Given the description of an element on the screen output the (x, y) to click on. 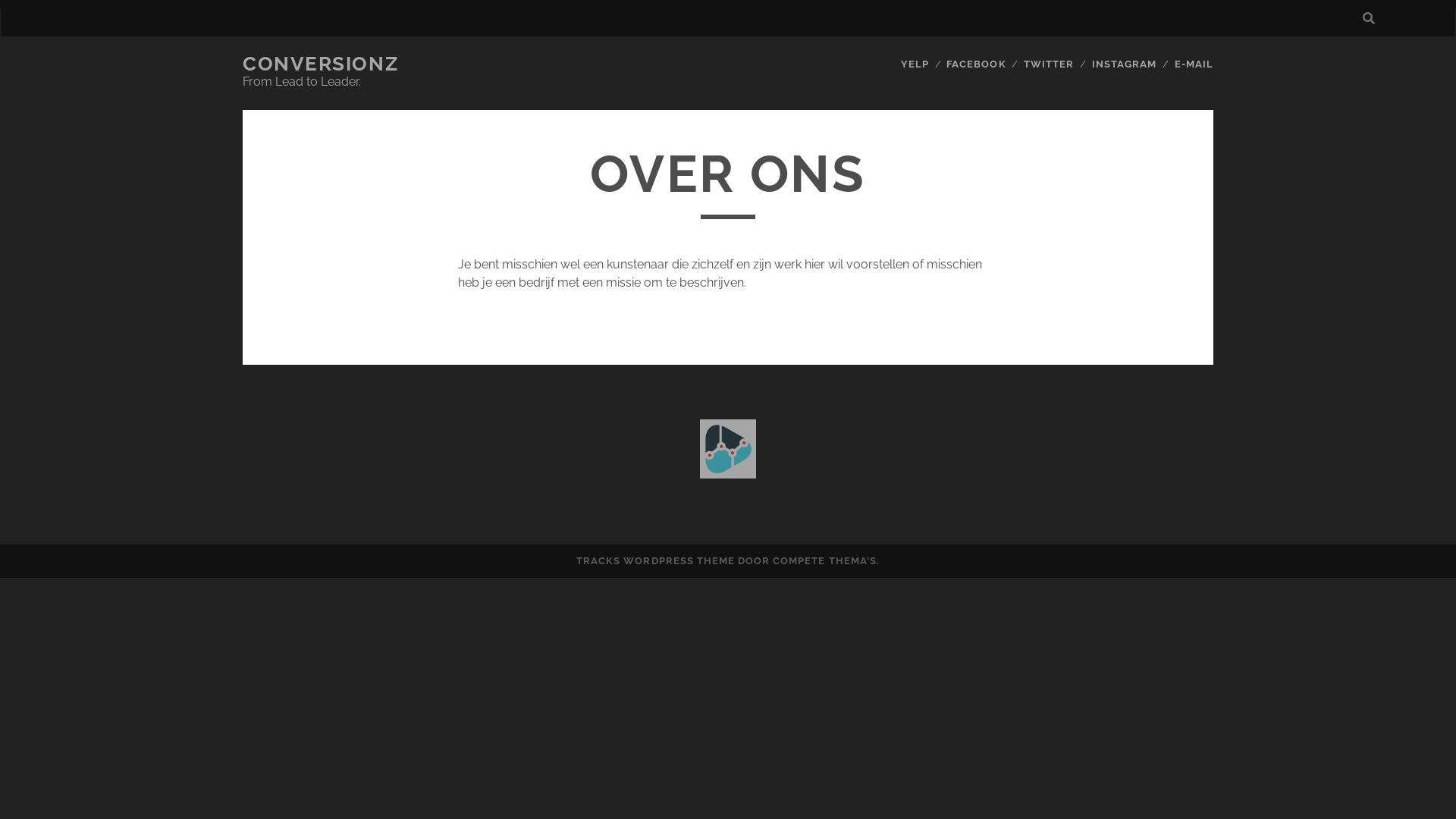
INSTAGRAM Element type: text (1124, 64)
TRACKS WORDPRESS THEME Element type: text (655, 560)
TWITTER Element type: text (1048, 64)
E-MAIL Element type: text (1193, 64)
FACEBOOK Element type: text (975, 64)
YELP Element type: text (914, 64)
CONVERSIONZ Element type: text (320, 63)
